Given the description of an element on the screen output the (x, y) to click on. 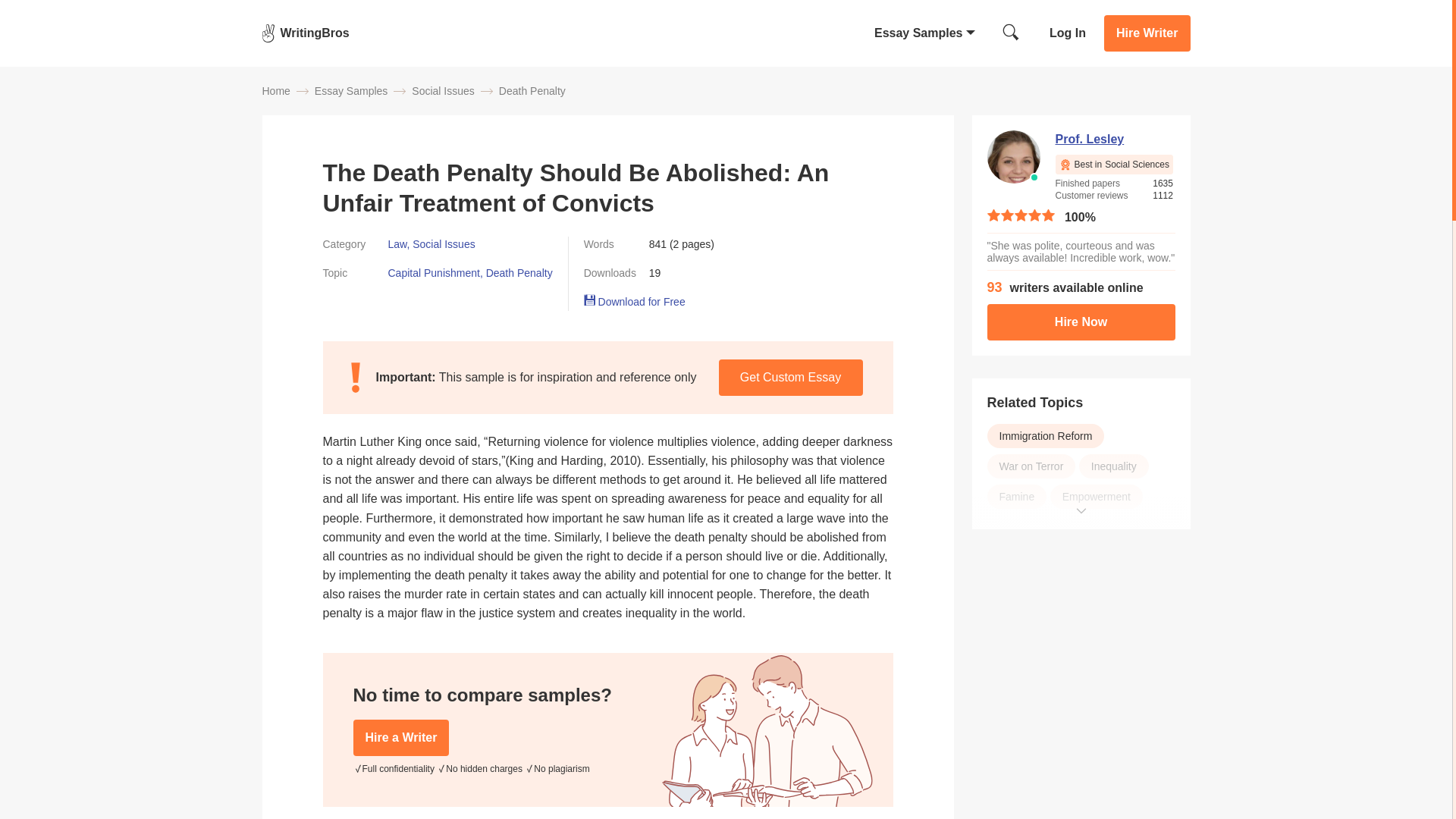
Essay Samples (350, 91)
Hire Writer (1147, 33)
Social Issues (443, 91)
Log In (1067, 32)
WritingBros (305, 33)
Social Issues (443, 244)
Home (275, 91)
Capital Punishment (434, 272)
Death Penalty (532, 91)
Law (397, 244)
